Given the description of an element on the screen output the (x, y) to click on. 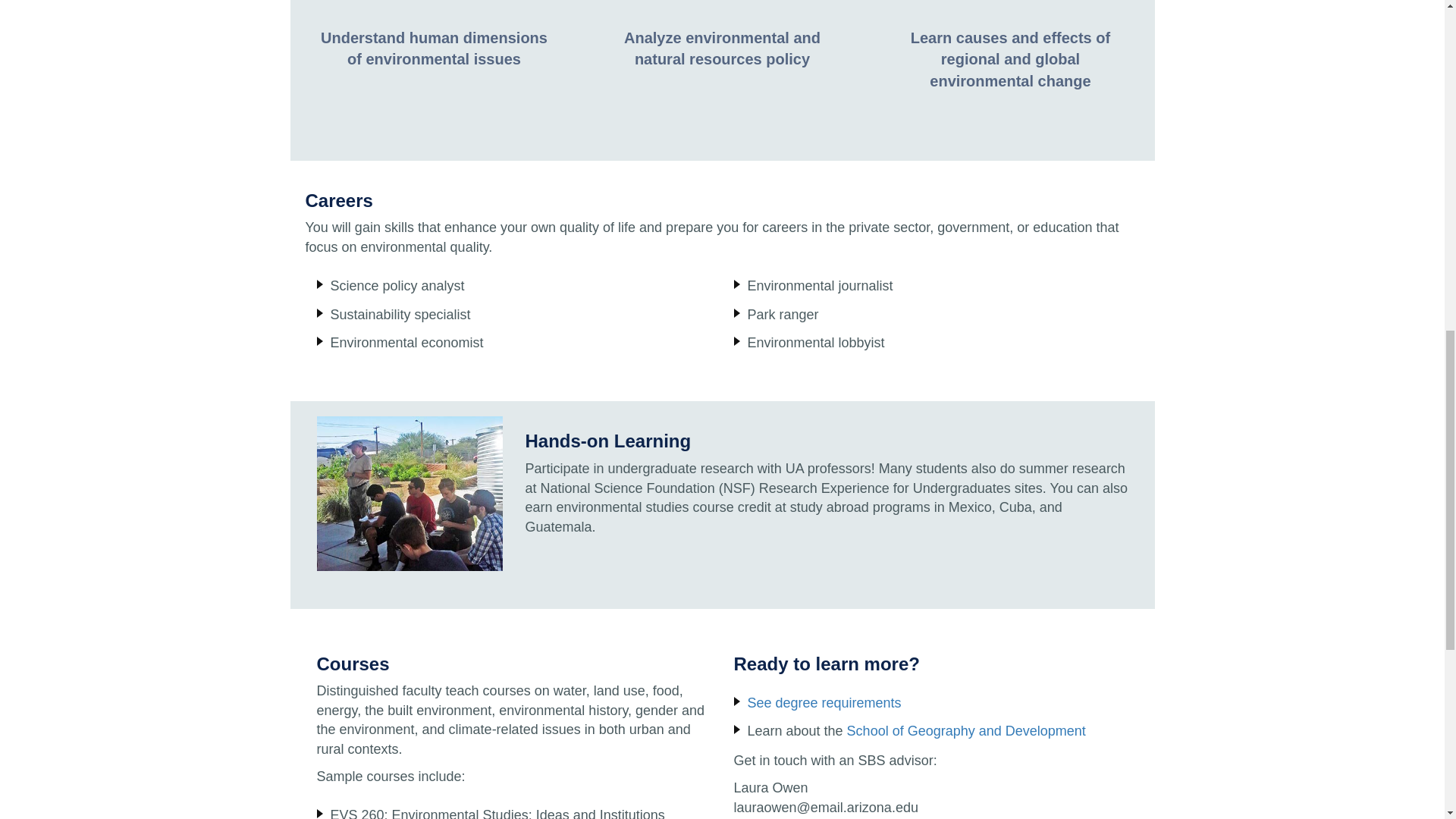
School of Geography and Development (966, 730)
See degree requirements (824, 702)
